Given the description of an element on the screen output the (x, y) to click on. 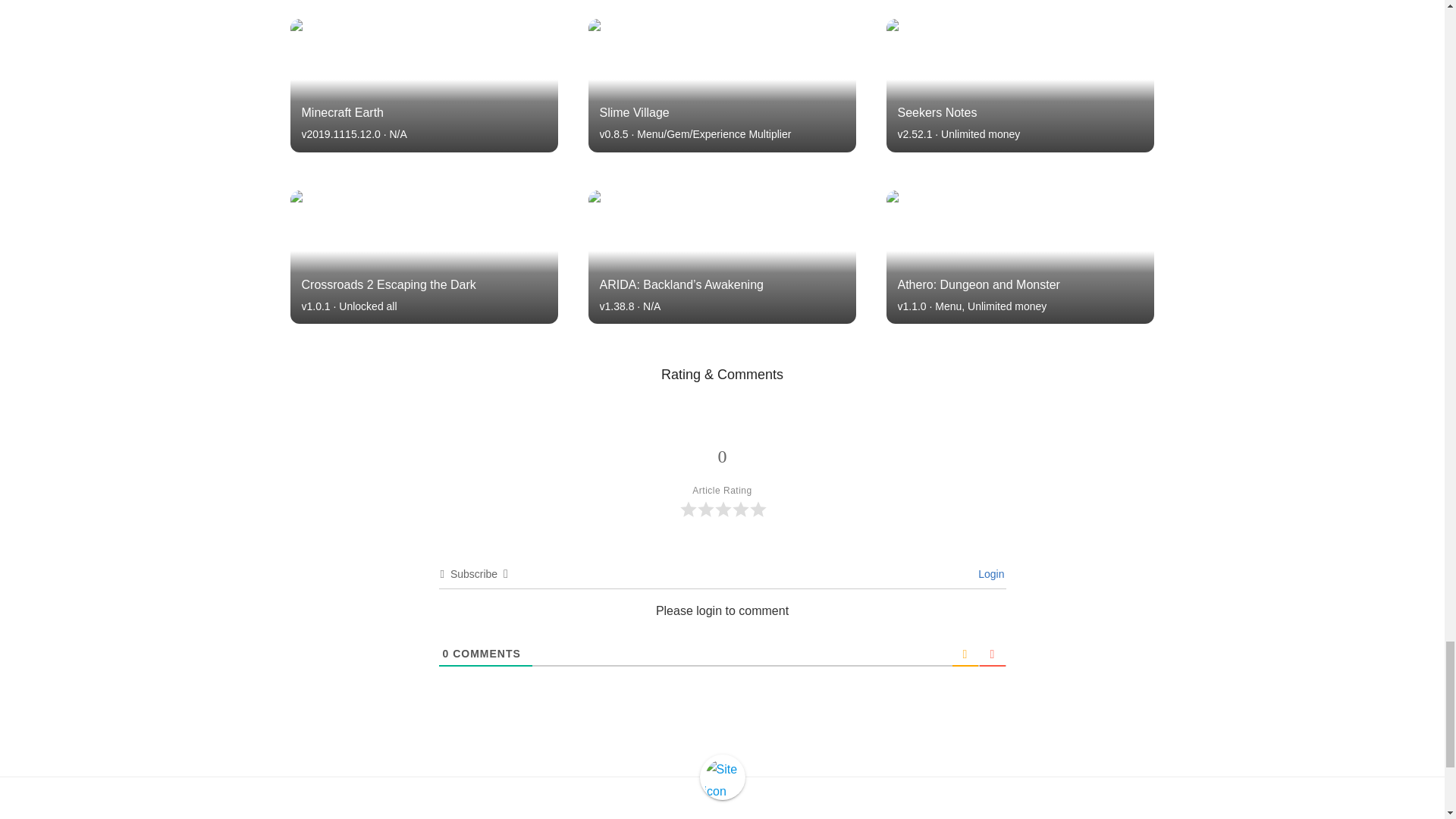
0 (445, 653)
